Given the description of an element on the screen output the (x, y) to click on. 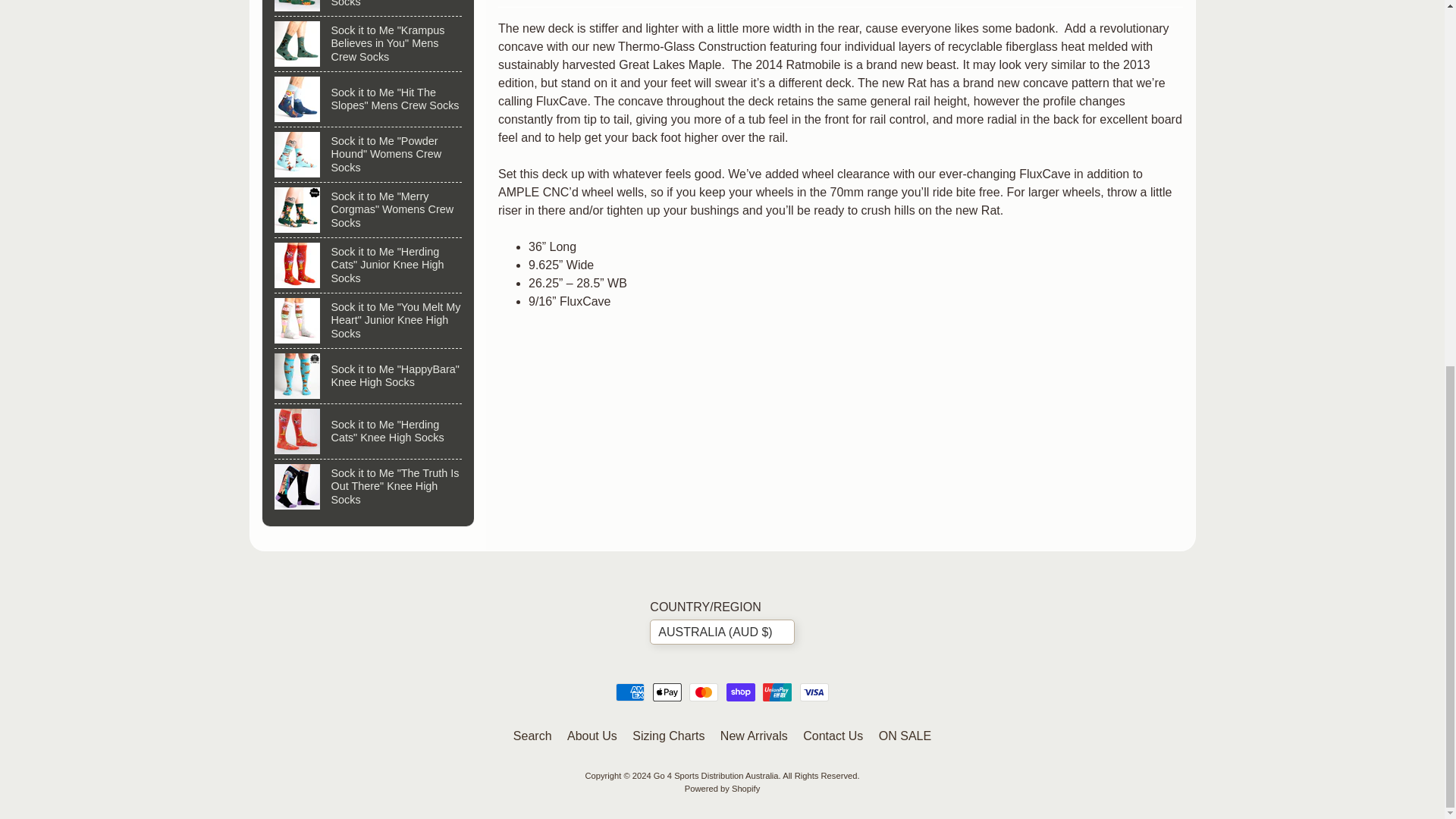
Sock it to Me "Herding Cats" Junior Knee High Socks (369, 265)
Apple Pay (666, 692)
Sock it to Me "You Melt My Heart" Junior Knee High Socks (369, 320)
Sock it to Me "Merry Corgmas" Womens Crew Socks (369, 209)
Sock it to Me "Merry Crustmas" Mens Crew Socks (369, 7)
Union Pay (777, 692)
Sock it to Me "Krampus Believes in You" Mens Crew Socks (369, 43)
Sock it to Me "Hit The Slopes" Mens Crew Socks (369, 99)
Sock it to Me "HappyBara" Knee High Socks (369, 375)
Mastercard (702, 692)
Sock it to Me "Herding Cats" Knee High Socks (369, 431)
Sock it to Me "Powder Hound" Womens Crew Socks (369, 154)
American Express (630, 692)
Visa (813, 692)
Shop Pay (740, 692)
